Given the description of an element on the screen output the (x, y) to click on. 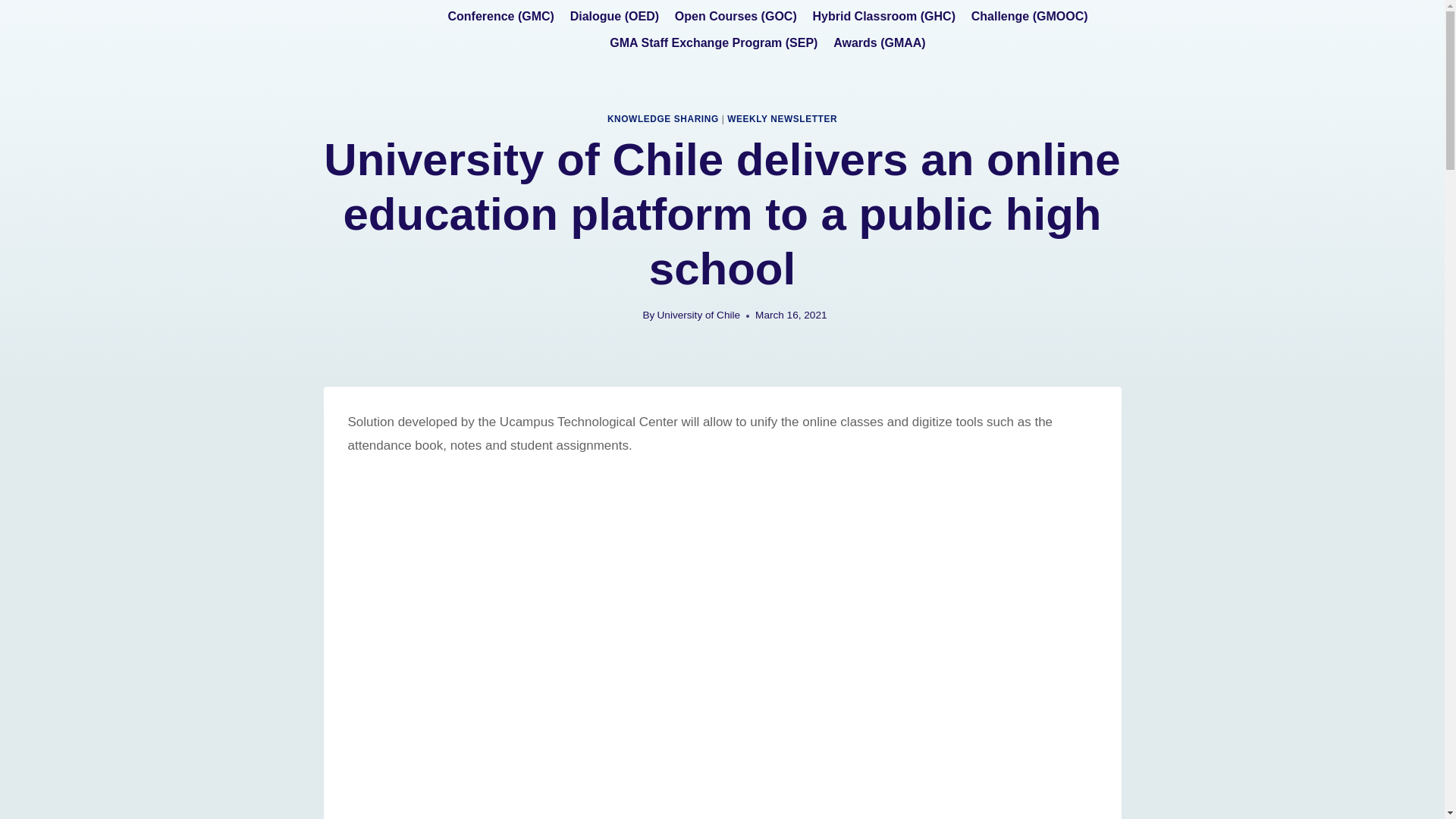
WEEKLY NEWSLETTER (781, 118)
KNOWLEDGE SHARING (663, 118)
University of Chile (699, 315)
